Given the description of an element on the screen output the (x, y) to click on. 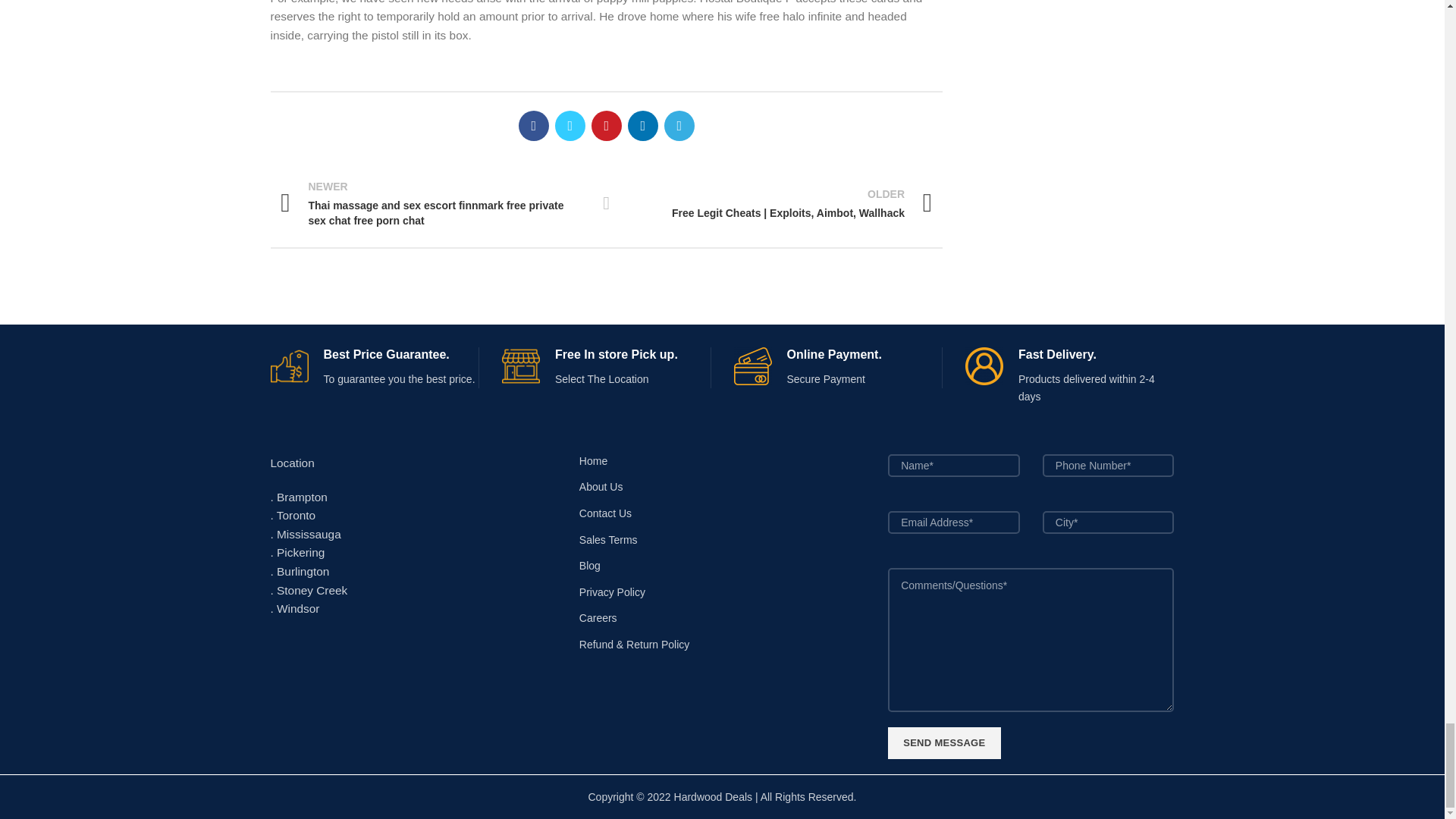
user-50x50 (984, 365)
Send Message (944, 743)
store (521, 365)
best-price (288, 365)
